Given the description of an element on the screen output the (x, y) to click on. 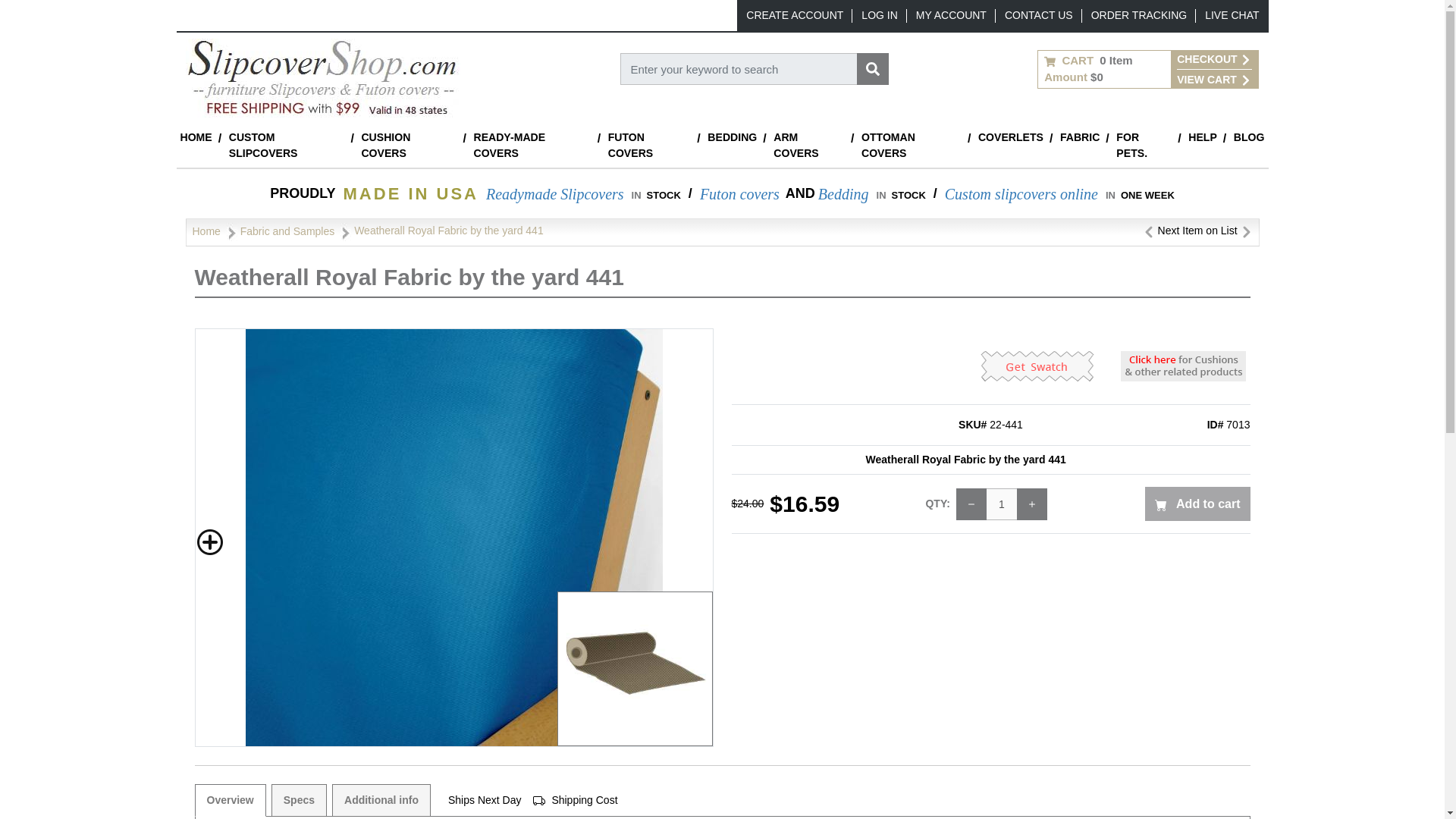
Search (872, 69)
CONTACT US (1038, 15)
LOG IN (878, 15)
CUSHION COVERS (408, 145)
CREATE ACCOUNT (794, 15)
ORDER TRACKING (1139, 15)
HOME (195, 137)
Futon covers (739, 193)
SlipCoverShop (322, 77)
READY-MADE COVERS (531, 145)
1 (1001, 504)
LIVE CHAT (1232, 15)
Previous (1148, 230)
CUSTOM SLIPCOVERS (287, 145)
Next (1246, 230)
